Given the description of an element on the screen output the (x, y) to click on. 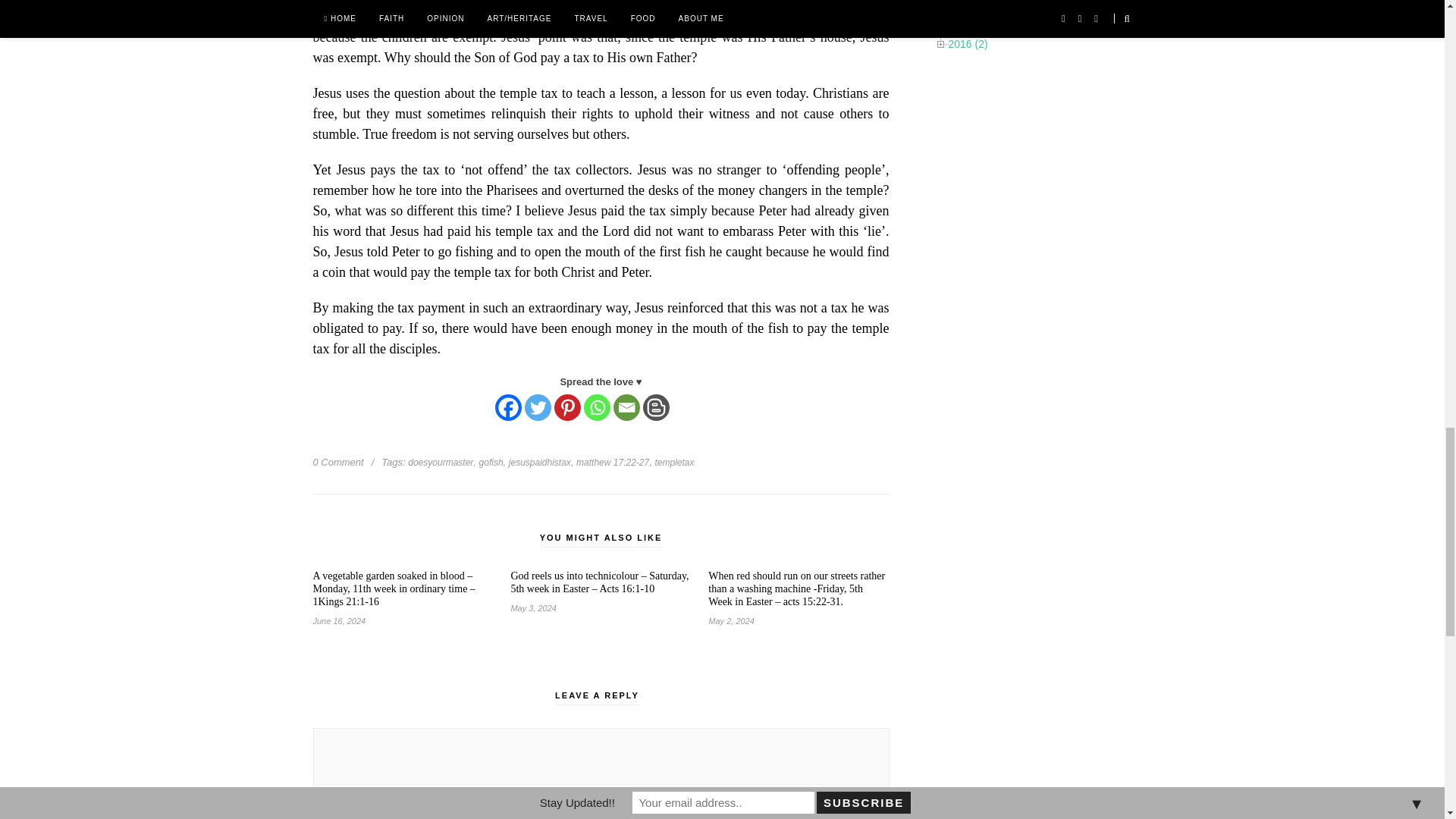
Pinterest (566, 406)
0 Comment (337, 461)
gofish (491, 462)
jesuspaidhistax (539, 462)
Blogger Post (656, 406)
doesyourmaster (440, 462)
Whatsapp (596, 406)
matthew 17:22-27 (612, 462)
Email (625, 406)
Twitter (537, 406)
Facebook (508, 406)
templetax (673, 462)
